Given the description of an element on the screen output the (x, y) to click on. 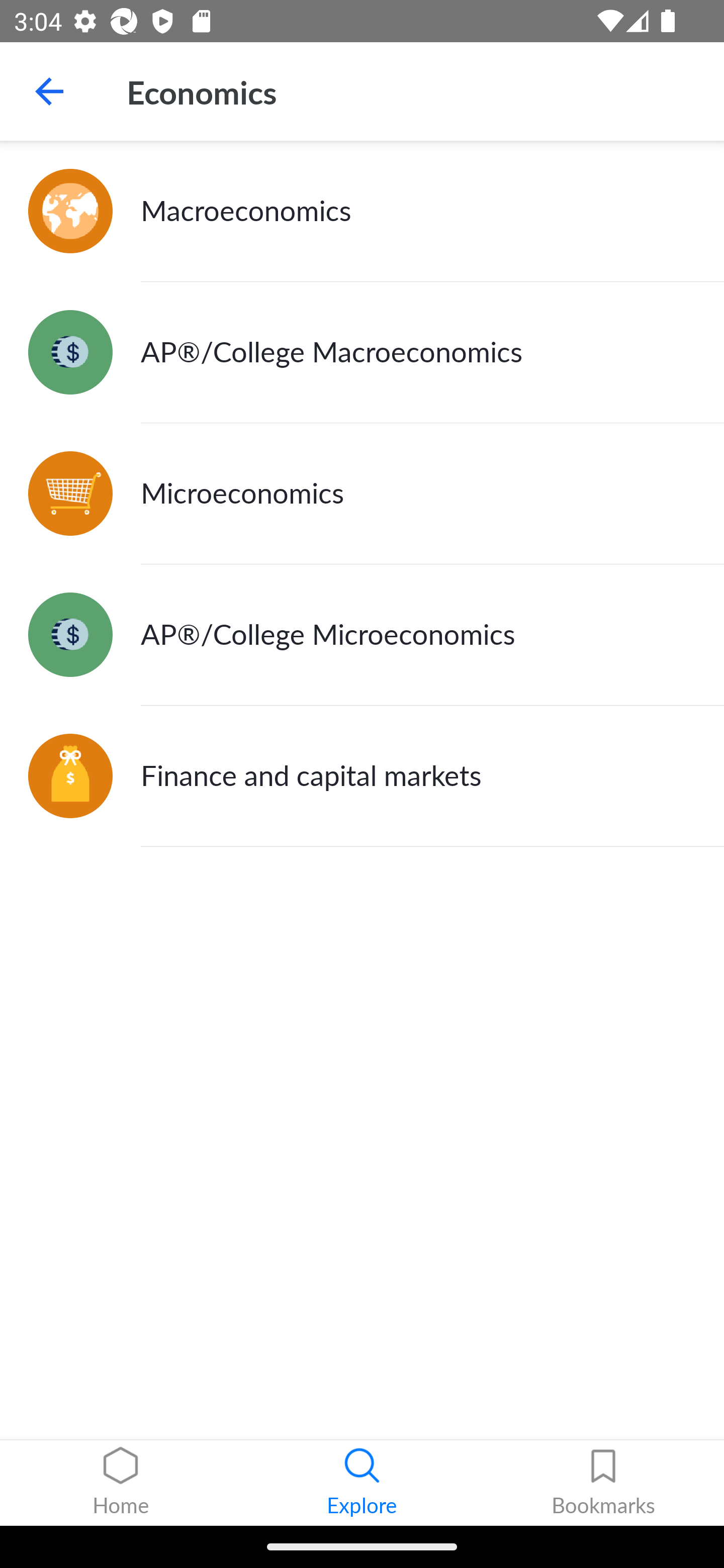
Navigate up (49, 91)
Macroeconomics (362, 211)
AP®︎/College Macroeconomics (362, 352)
Microeconomics (362, 493)
AP®︎/College Microeconomics (362, 634)
Finance and capital markets (362, 775)
Home (120, 1482)
Explore (361, 1482)
Bookmarks (603, 1482)
